Given the description of an element on the screen output the (x, y) to click on. 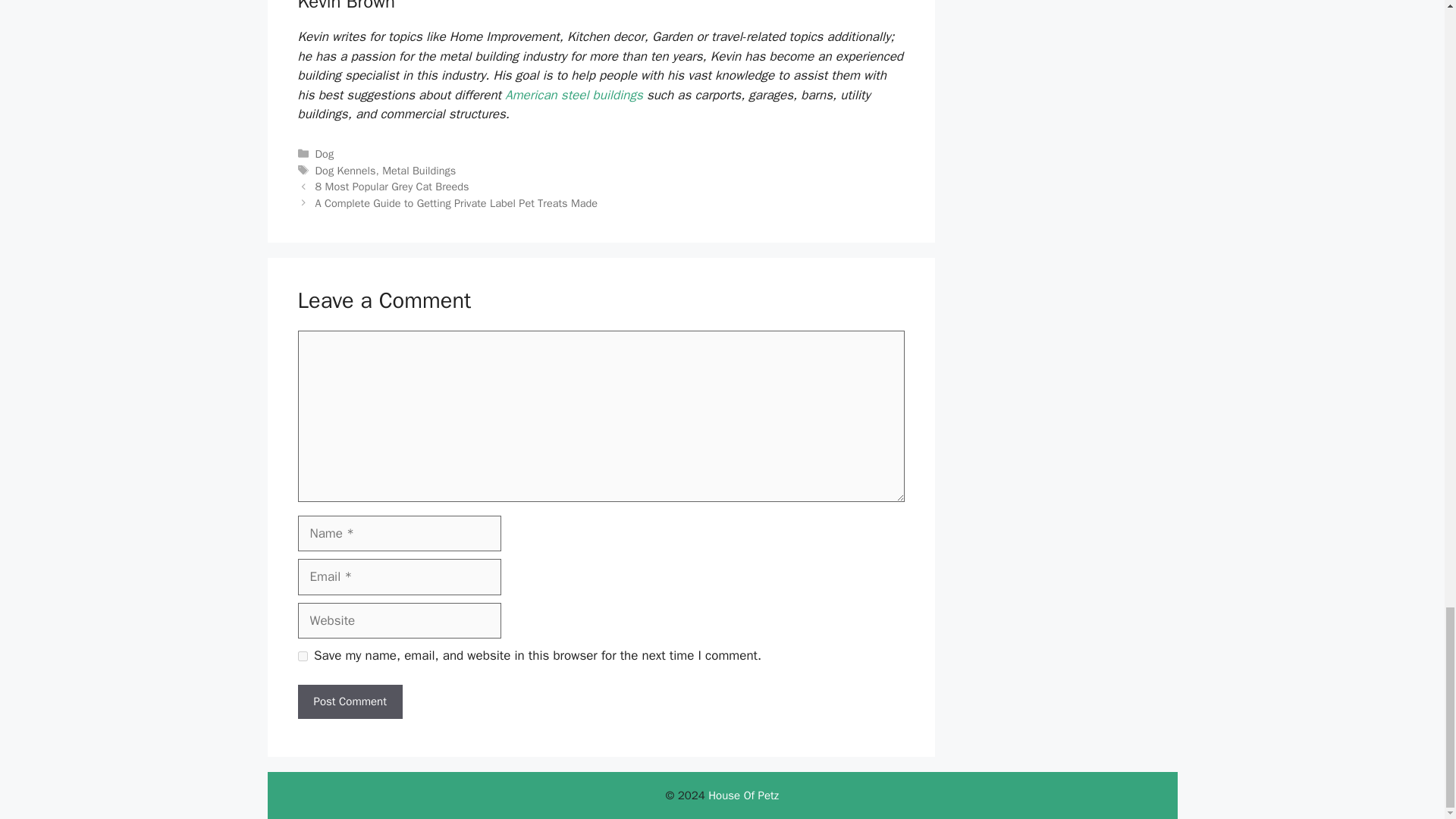
8 Most Popular Grey Cat Breeds (391, 186)
Post Comment (349, 701)
Dog Kennels (345, 170)
yes (302, 655)
American steel buildings (574, 94)
A Complete Guide to Getting Private Label Pet Treats Made (456, 202)
Metal Buildings (418, 170)
Dog (324, 153)
Post Comment (349, 701)
